Given the description of an element on the screen output the (x, y) to click on. 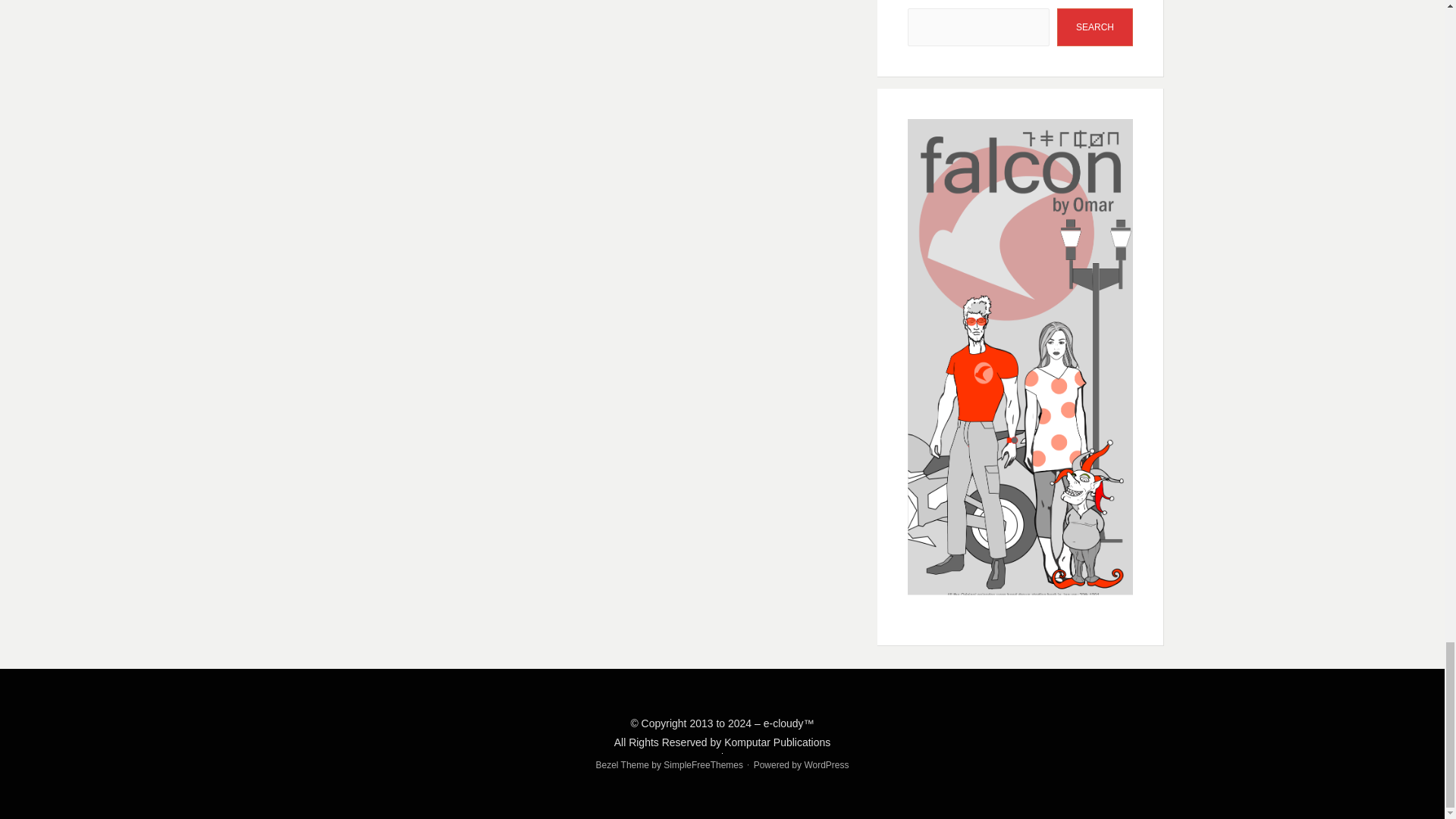
WordPress (825, 765)
SimpleFreeThemes (702, 765)
